Given the description of an element on the screen output the (x, y) to click on. 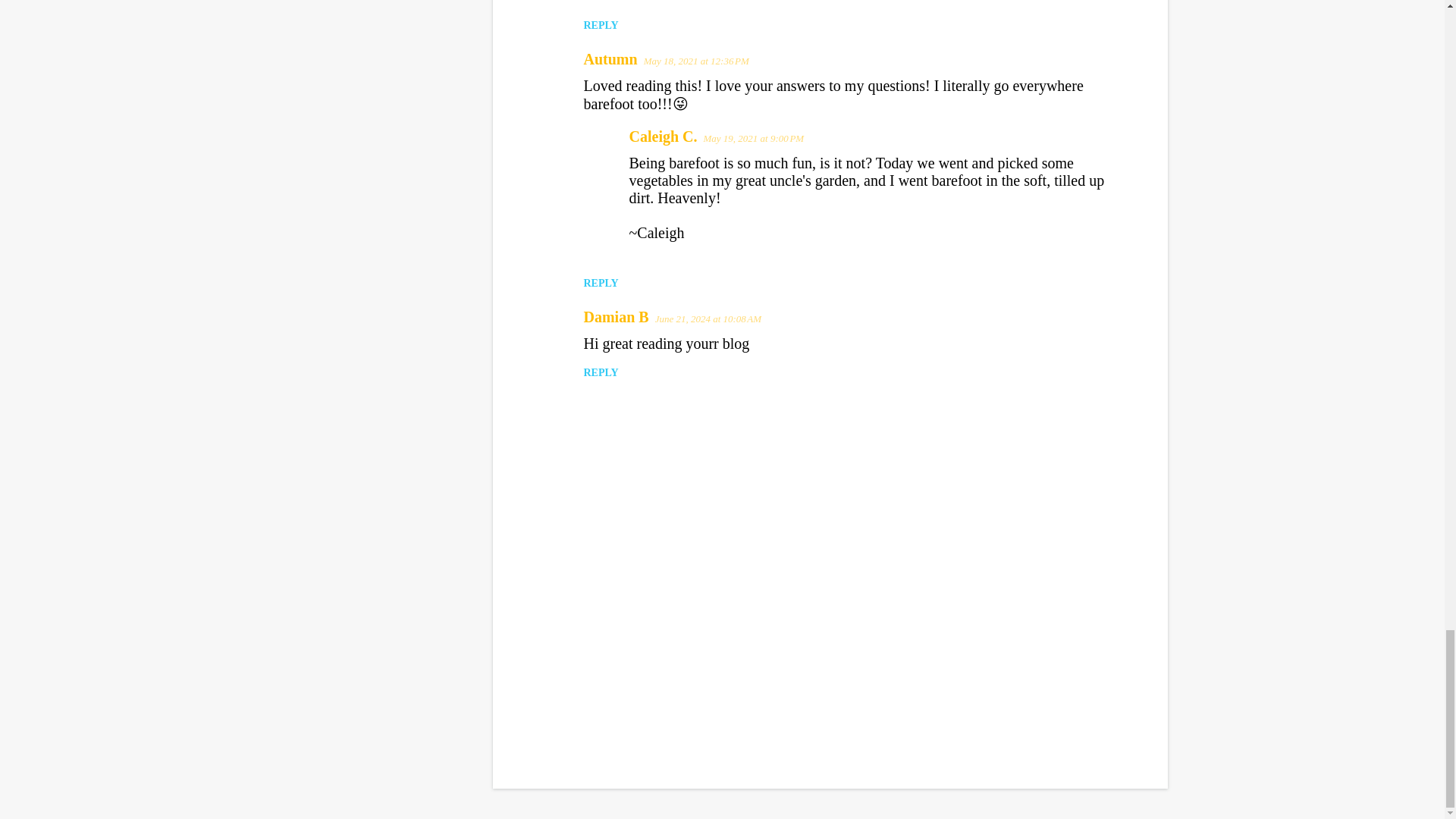
Autumn (610, 58)
REPLY (600, 25)
REPLY (600, 283)
